Given the description of an element on the screen output the (x, y) to click on. 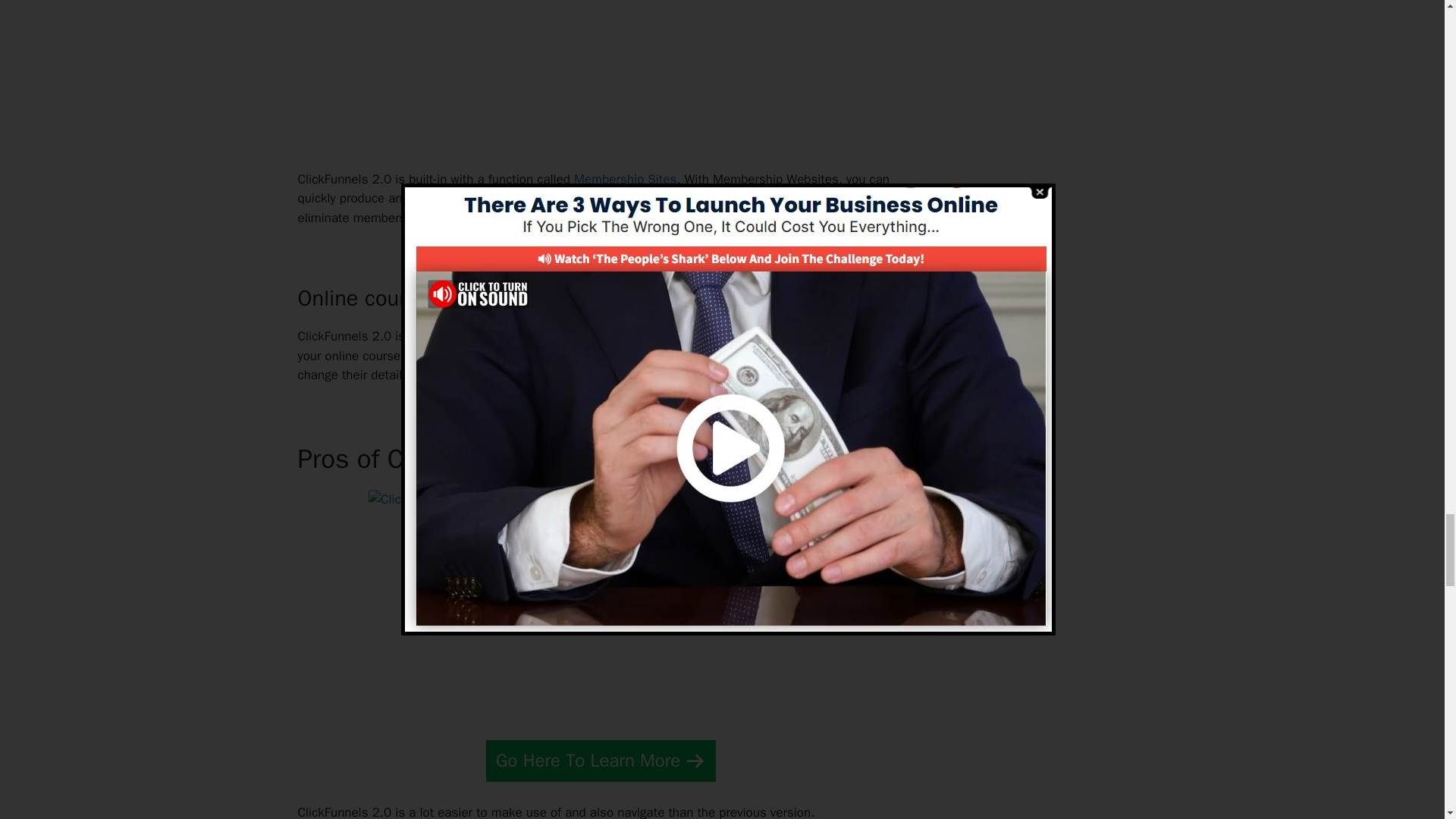
membership funnels (518, 198)
Membership Sites (625, 179)
Go Here To Learn More (601, 761)
